Given the description of an element on the screen output the (x, y) to click on. 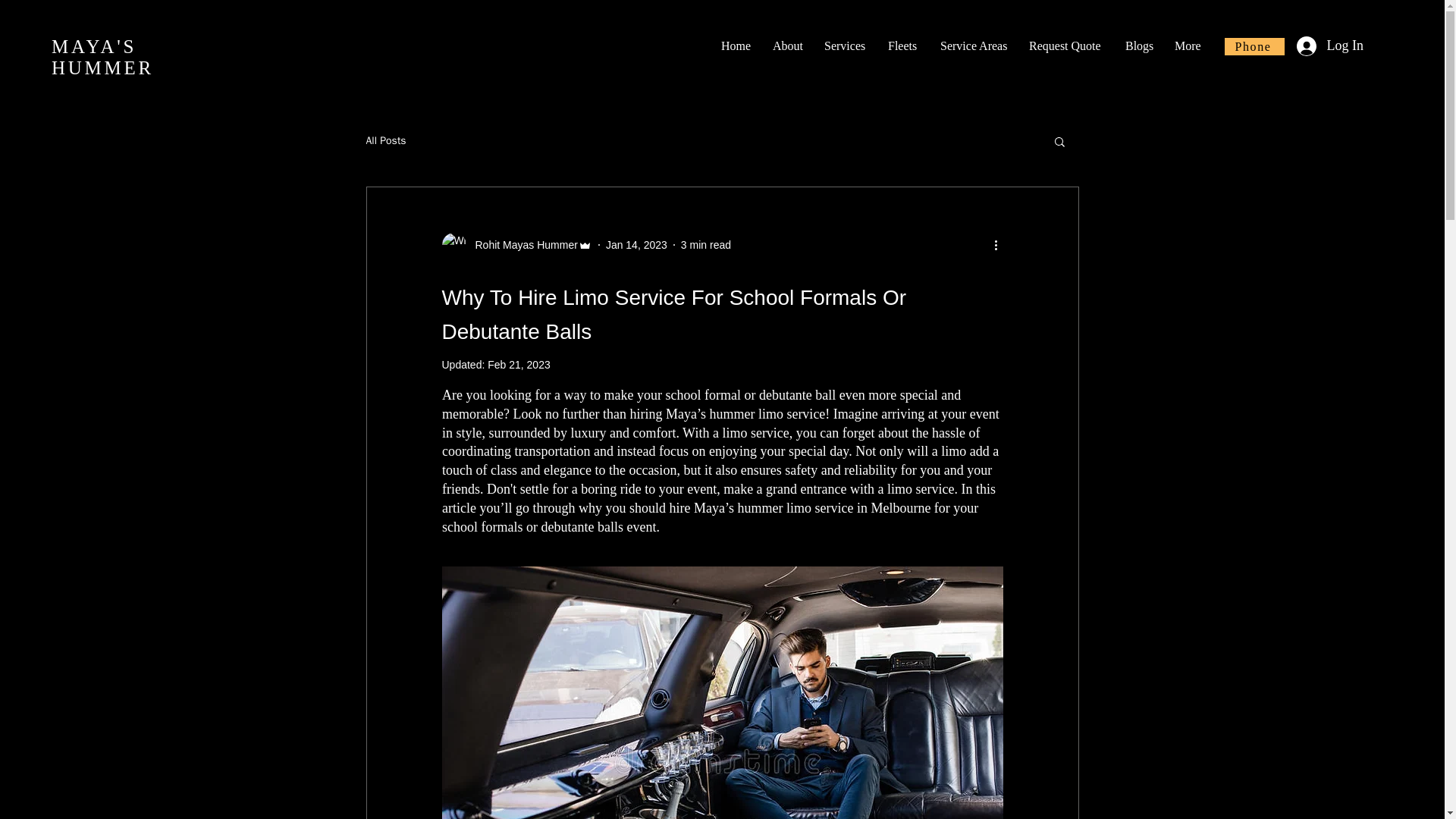
Services (844, 46)
All Posts (385, 141)
About (786, 46)
Log In (1329, 45)
Feb 21, 2023 (518, 364)
MAYA'S HUMMER (102, 56)
Fleets (902, 46)
3 min read (705, 244)
Rohit Mayas Hummer (516, 244)
Blogs (1138, 46)
